Given the description of an element on the screen output the (x, y) to click on. 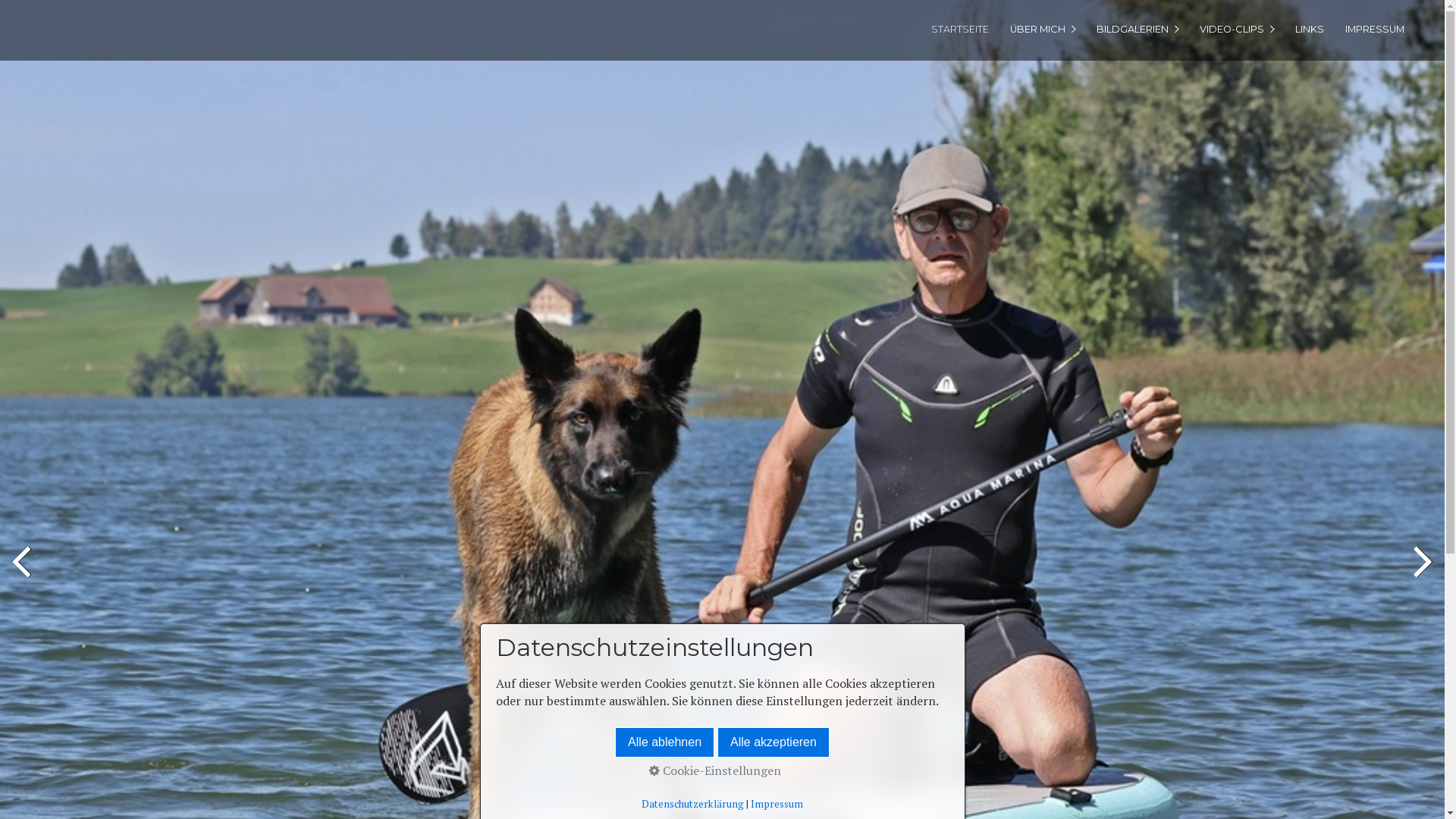
Alle ablehnen Element type: text (664, 742)
BILDGALERIEN Element type: text (1136, 29)
weiter Element type: text (1421, 574)
LINKS Element type: text (1308, 29)
IMPRESSUM Element type: text (1374, 29)
VIDEO-CLIPS Element type: text (1236, 29)
Alle akzeptieren Element type: text (773, 742)
STARTSEITE Element type: text (958, 29)
Impressum Element type: text (776, 803)
Cookie-Einstellungen Element type: text (714, 770)
